Given the description of an element on the screen output the (x, y) to click on. 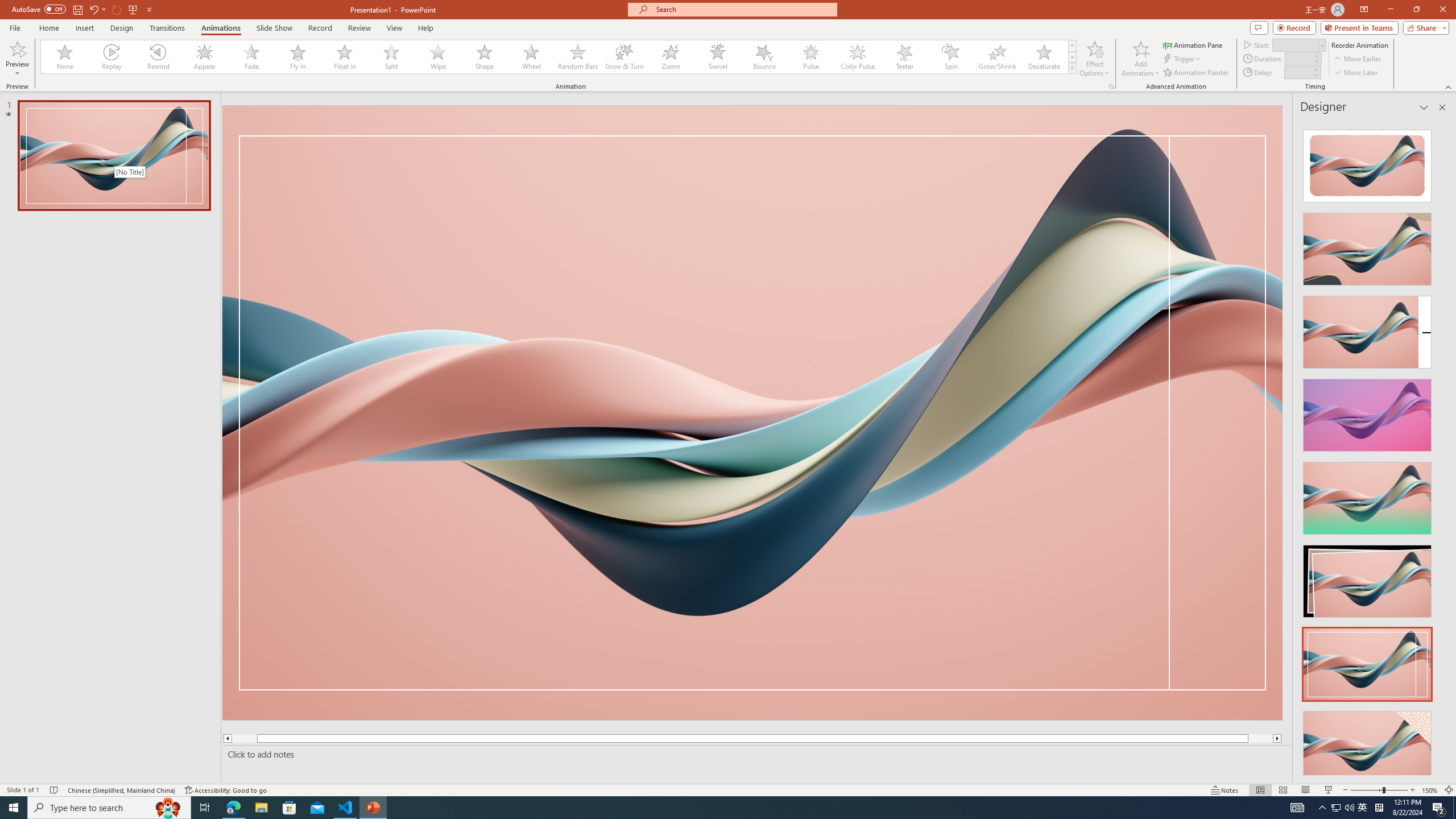
Teeter (903, 56)
